Given the description of an element on the screen output the (x, y) to click on. 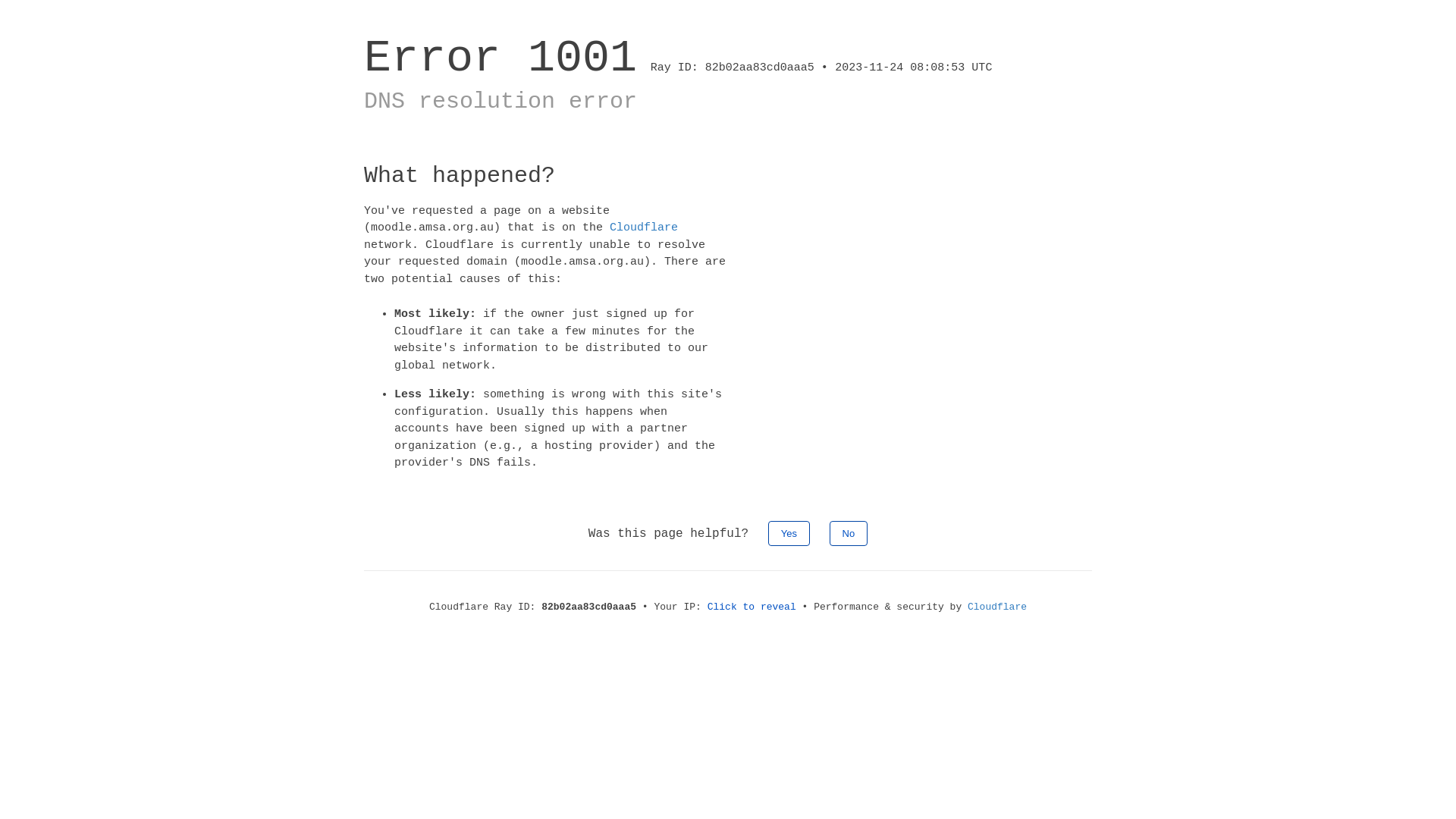
Cloudflare Element type: text (643, 227)
Cloudflare Element type: text (996, 605)
Yes Element type: text (788, 532)
Click to reveal Element type: text (751, 605)
No Element type: text (848, 532)
